Given the description of an element on the screen output the (x, y) to click on. 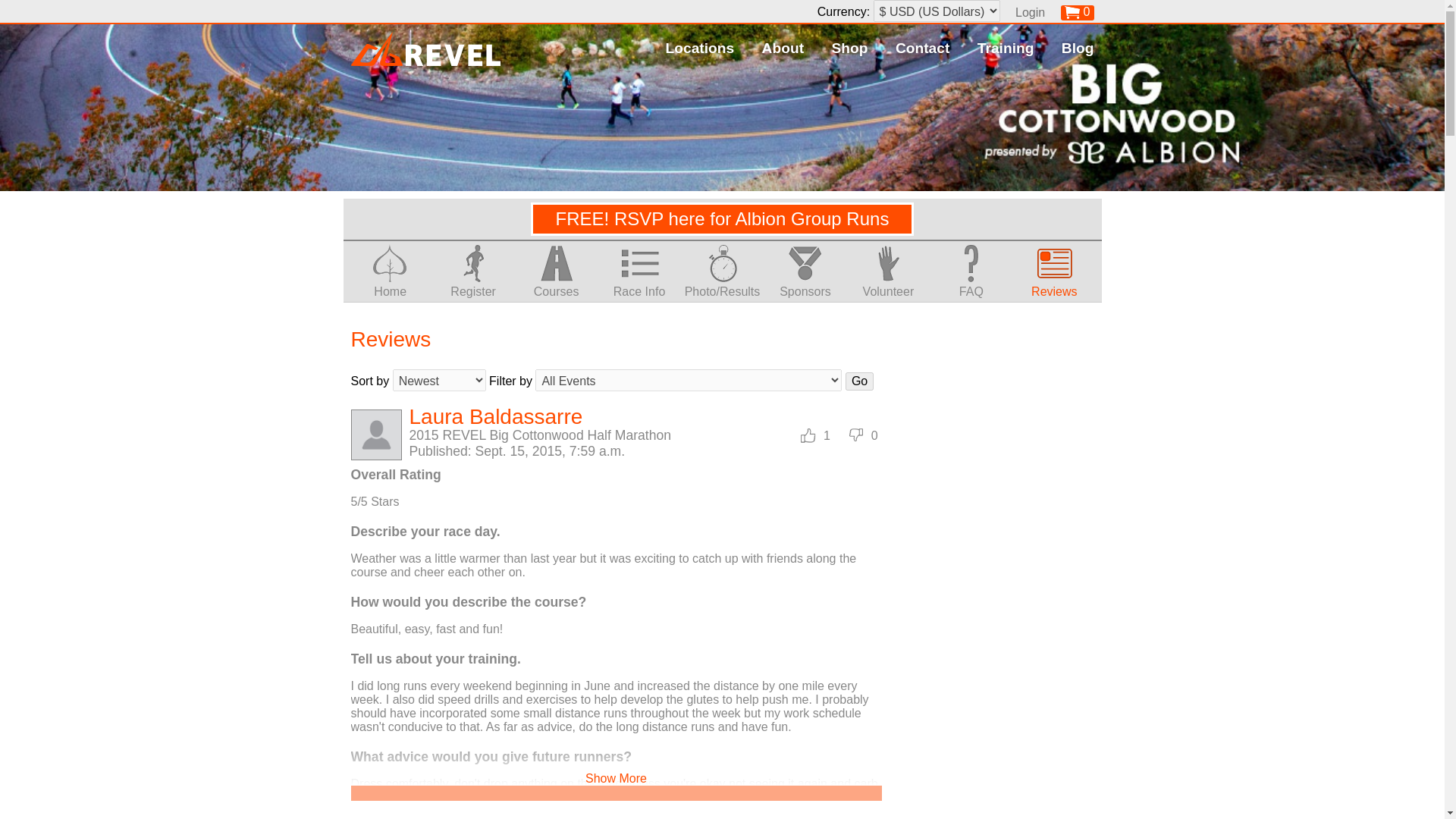
Training (1004, 48)
FAQ (970, 284)
Home (389, 284)
Shop (849, 48)
Blog (1077, 48)
Contact (922, 48)
Reviews (1054, 284)
About (782, 48)
Courses (555, 284)
Volunteer (888, 284)
